Given the description of an element on the screen output the (x, y) to click on. 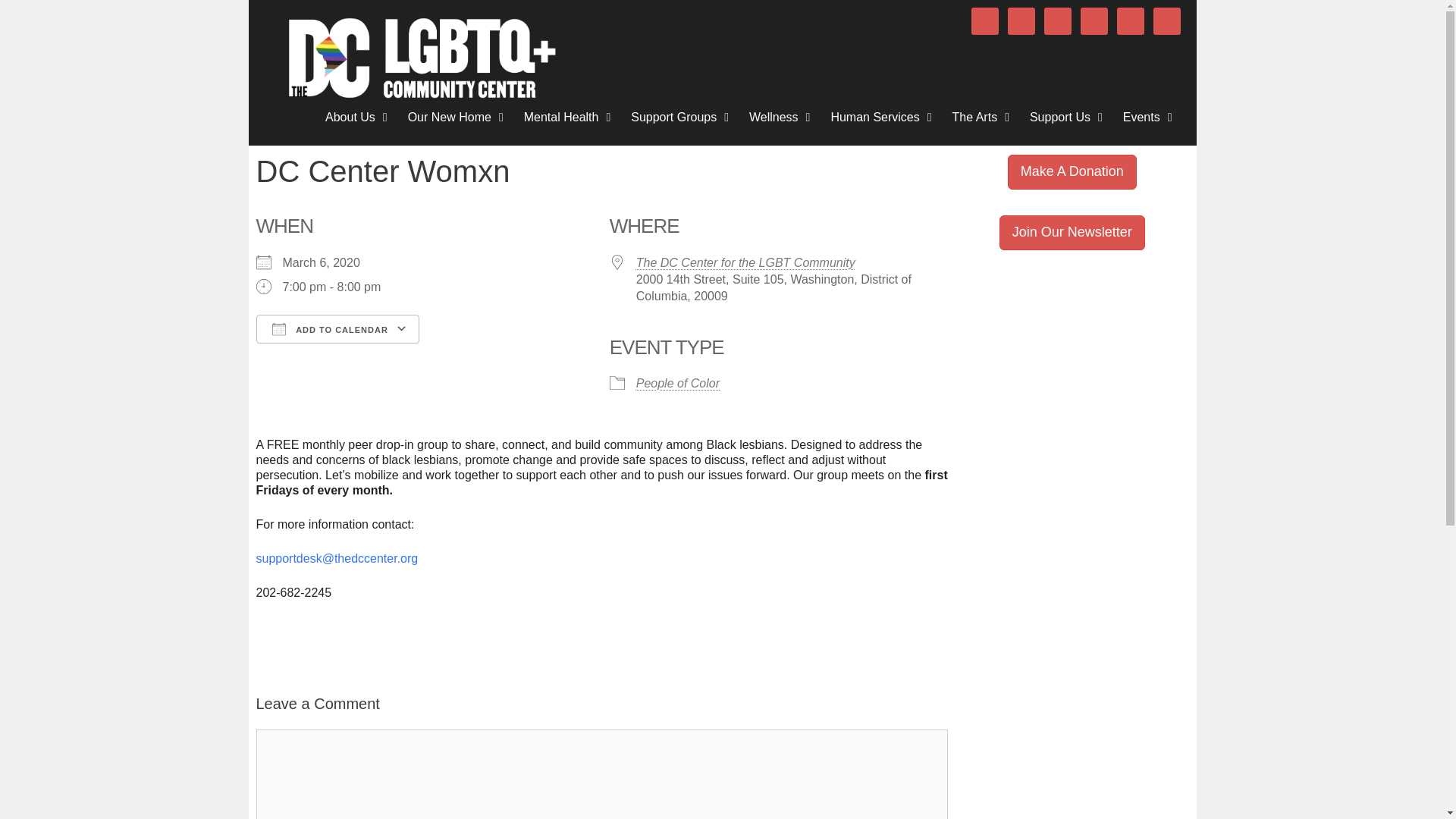
About Us (358, 117)
Mental Health (570, 117)
Our New Home (458, 117)
